Given the description of an element on the screen output the (x, y) to click on. 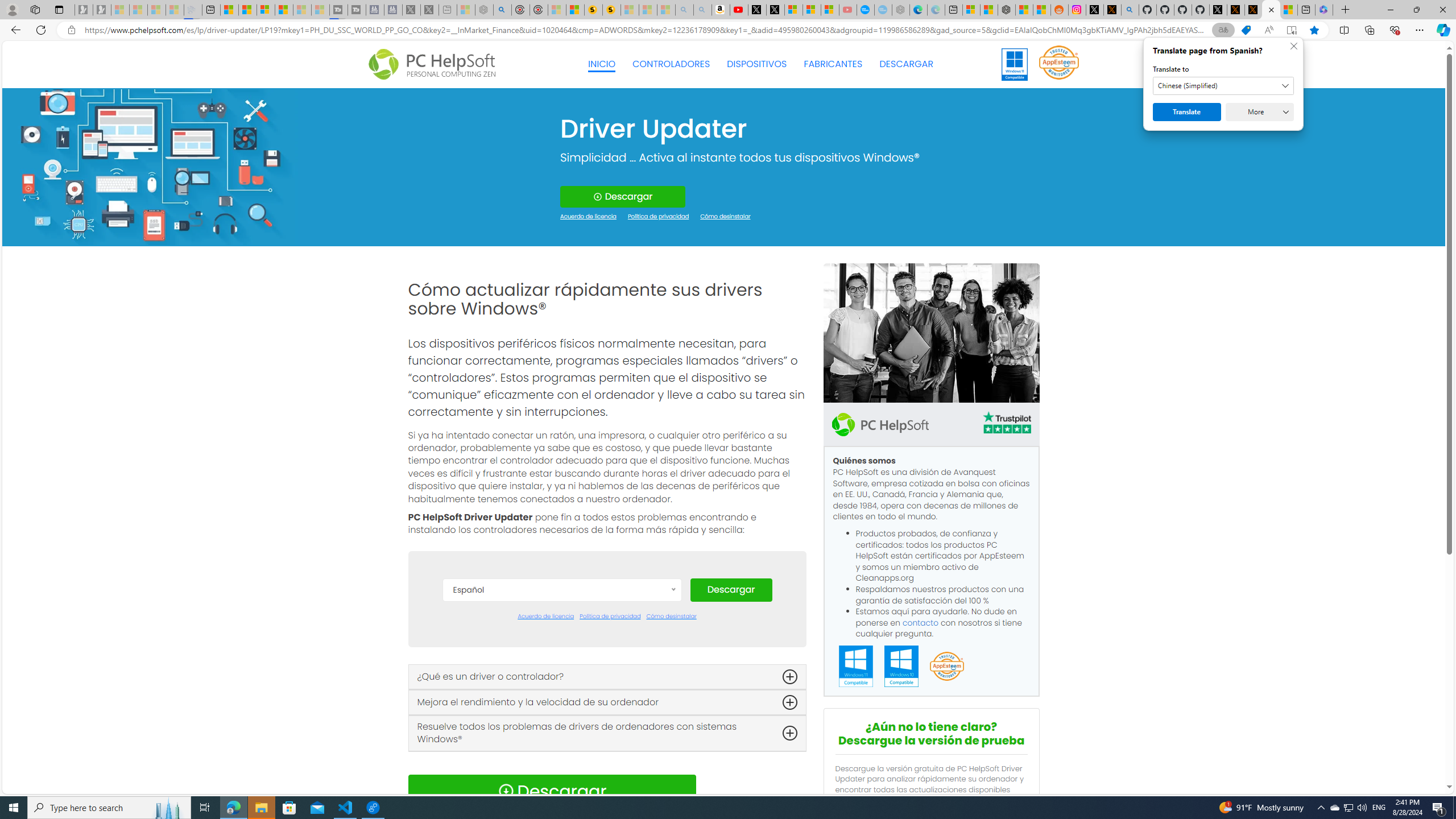
Logo Personal Computing (435, 64)
INICIO (601, 64)
contacto (920, 622)
Streaming Coverage | T3 - Sleeping (338, 9)
Overview (265, 9)
Show translate options (1222, 29)
Microsoft Start - Sleeping (301, 9)
The most popular Google 'how to' searches - Sleeping (882, 9)
Amazon Echo Dot PNG - Search Images - Sleeping (702, 9)
